Given the description of an element on the screen output the (x, y) to click on. 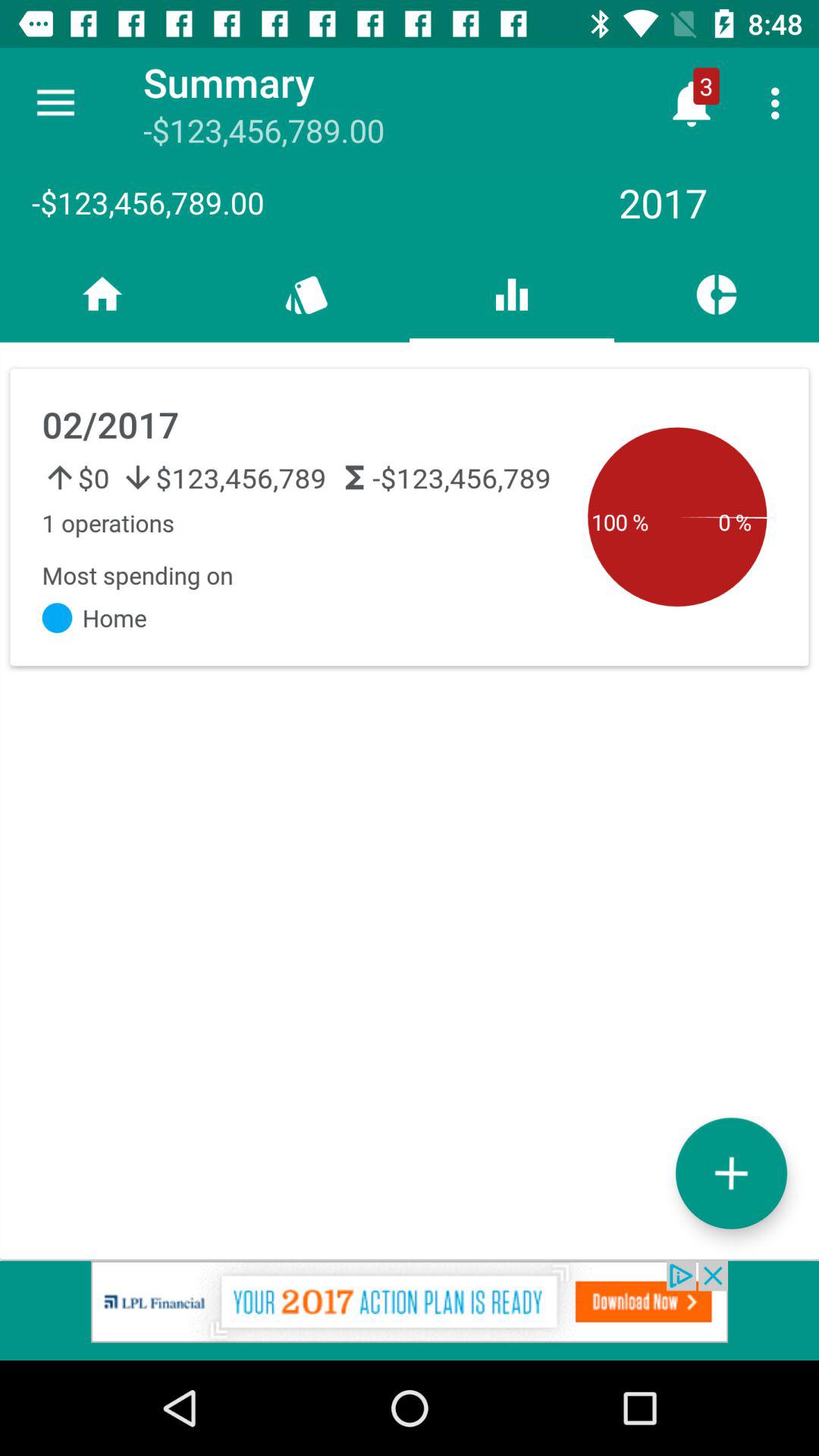
advertisement (409, 1310)
